Given the description of an element on the screen output the (x, y) to click on. 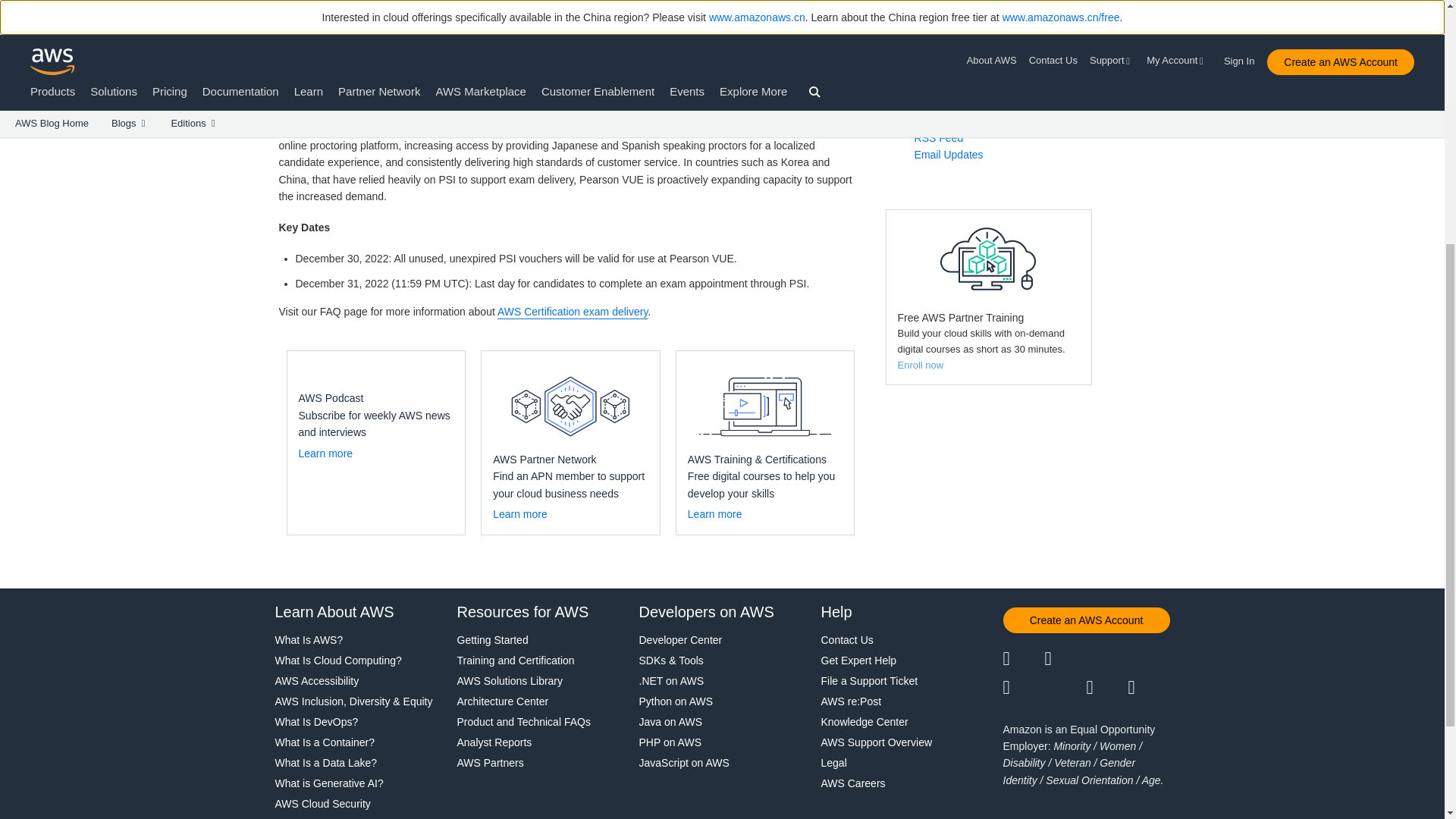
Facebook (1065, 658)
Instagram (1149, 658)
Linkedin (1106, 658)
Twitter (1023, 658)
Twitch (1023, 687)
